Given the description of an element on the screen output the (x, y) to click on. 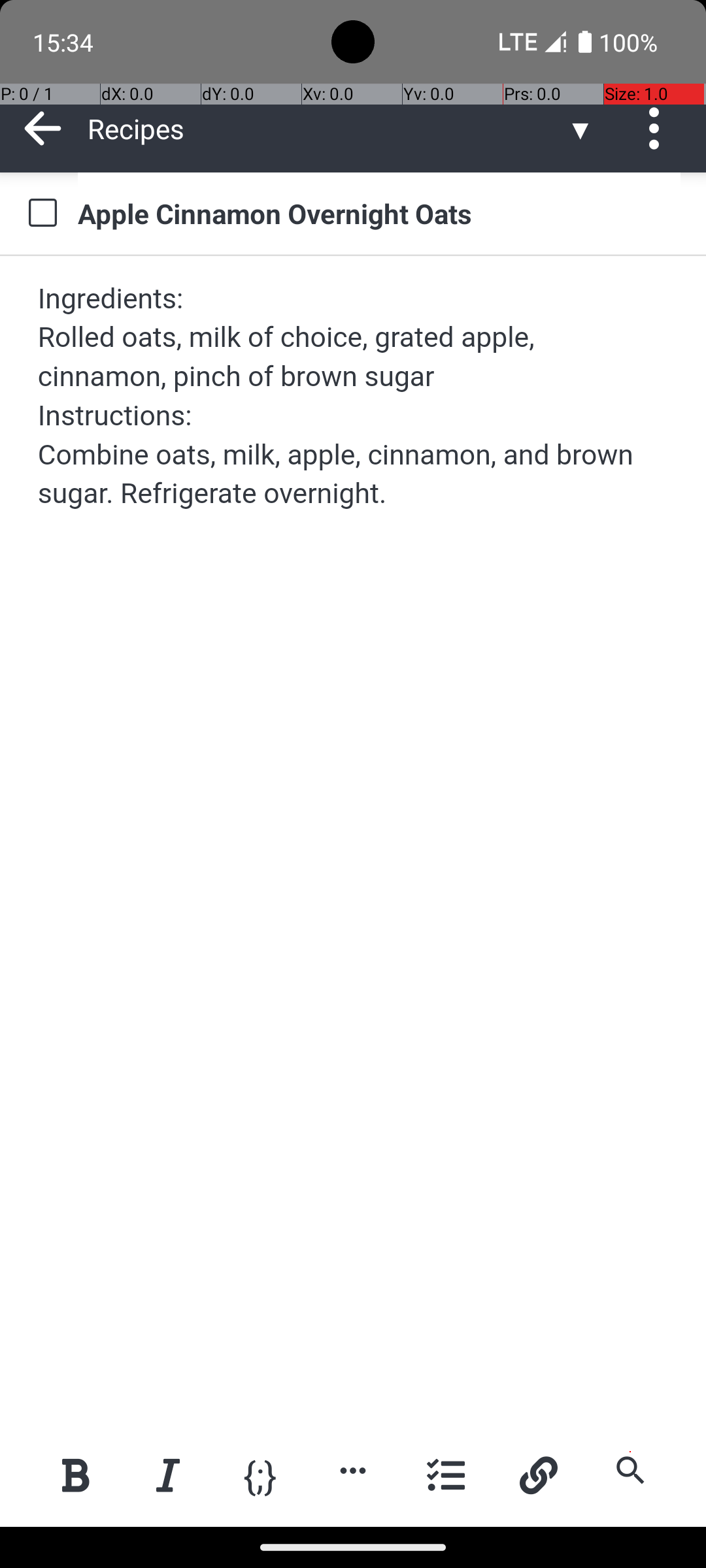
Apple Cinnamon Overnight Oats Element type: android.widget.EditText (378, 213)
Ingredients:
Rolled oats, milk of choice, grated apple, cinnamon, pinch of brown sugar
Instructions:
Combine oats, milk, apple, cinnamon, and brown sugar. Refrigerate overnight. Element type: android.widget.EditText (354, 396)
